Given the description of an element on the screen output the (x, y) to click on. 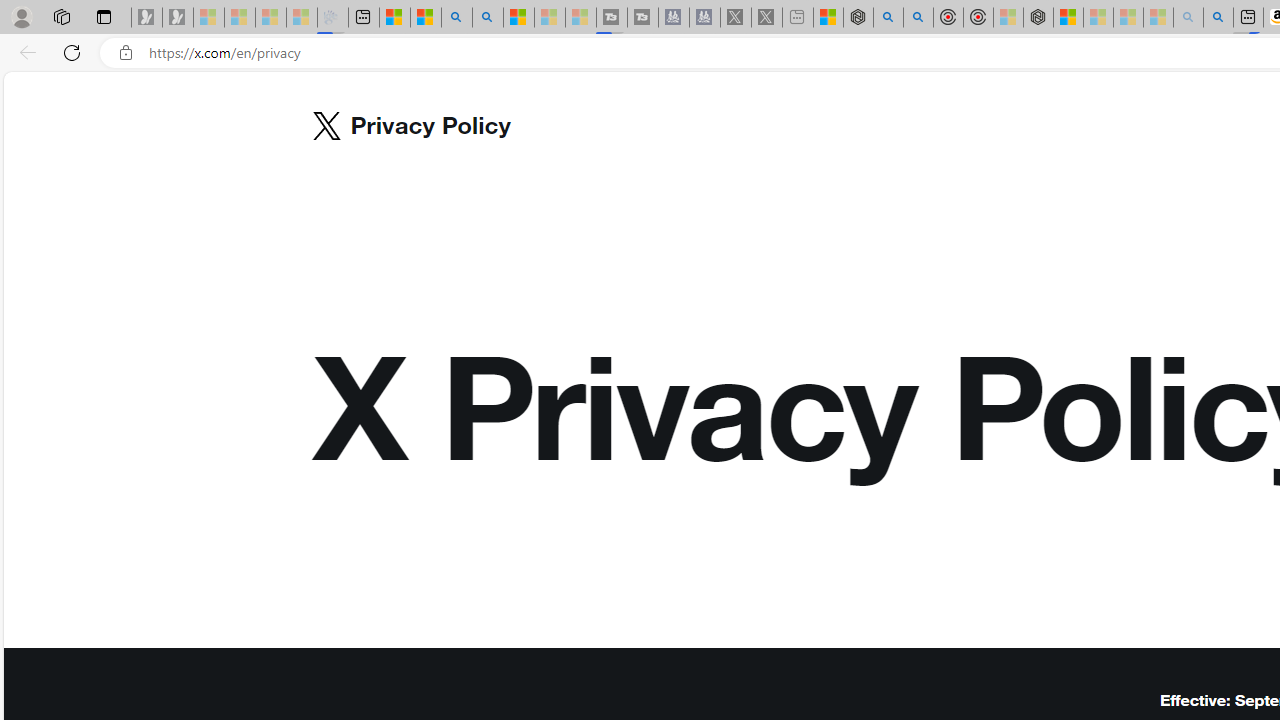
Nordace - Summer Adventures 2024 (857, 17)
Wildlife - MSN (828, 17)
Search (487, 17)
amazon - Search - Sleeping (1188, 17)
Back (24, 52)
Streaming Coverage | T3 - Sleeping (611, 17)
New tab (363, 17)
Workspaces (61, 16)
Tab actions menu (104, 16)
